Given the description of an element on the screen output the (x, y) to click on. 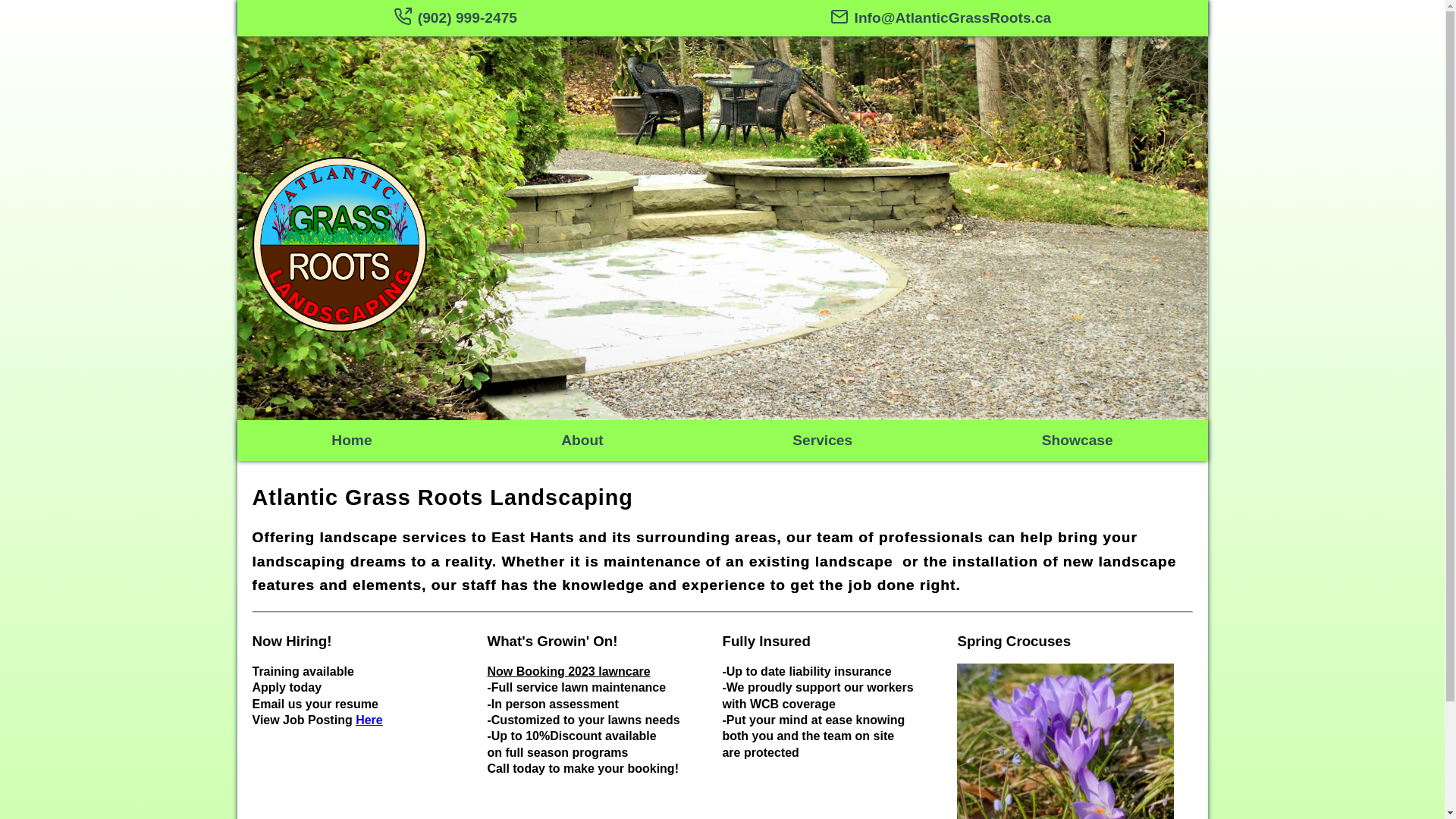
Info@AtlanticGrassRoots.ca Element type: text (940, 17)
About Element type: text (581, 440)
Home Element type: text (351, 440)
Showcase Element type: text (1077, 440)
Atlantic Grass Roots Landscaping Element type: text (441, 497)
Here Element type: text (368, 719)
(902) 999-2475 Element type: text (455, 17)
Services Element type: text (822, 440)
